Given the description of an element on the screen output the (x, y) to click on. 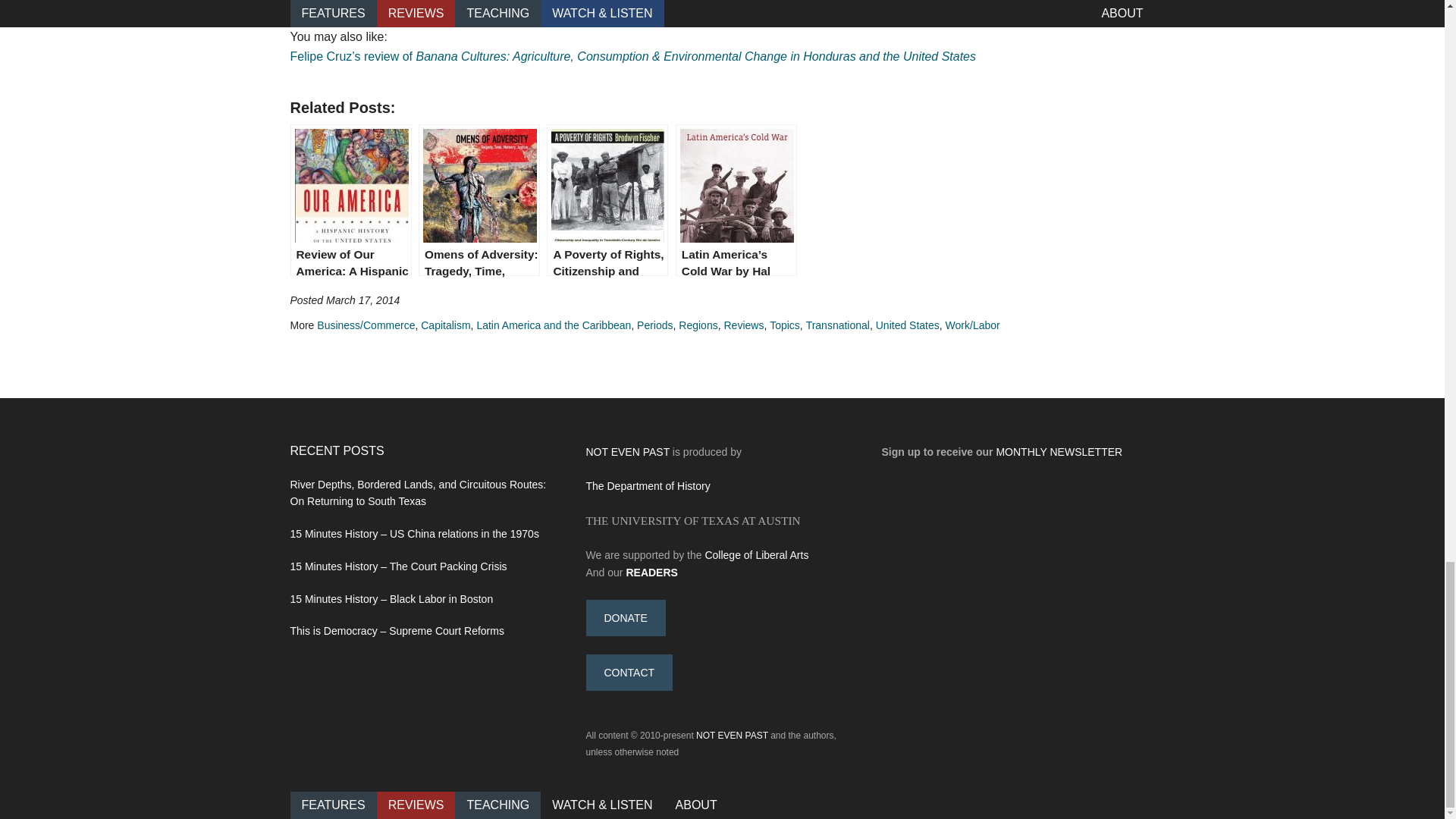
Capitalism (445, 325)
Periods (654, 325)
CONTACT (628, 671)
Transnational (837, 325)
Reviews (742, 325)
Regions (697, 325)
MONTHLY NEWSLETTER (1058, 451)
Topics (784, 325)
United States (907, 325)
